Given the description of an element on the screen output the (x, y) to click on. 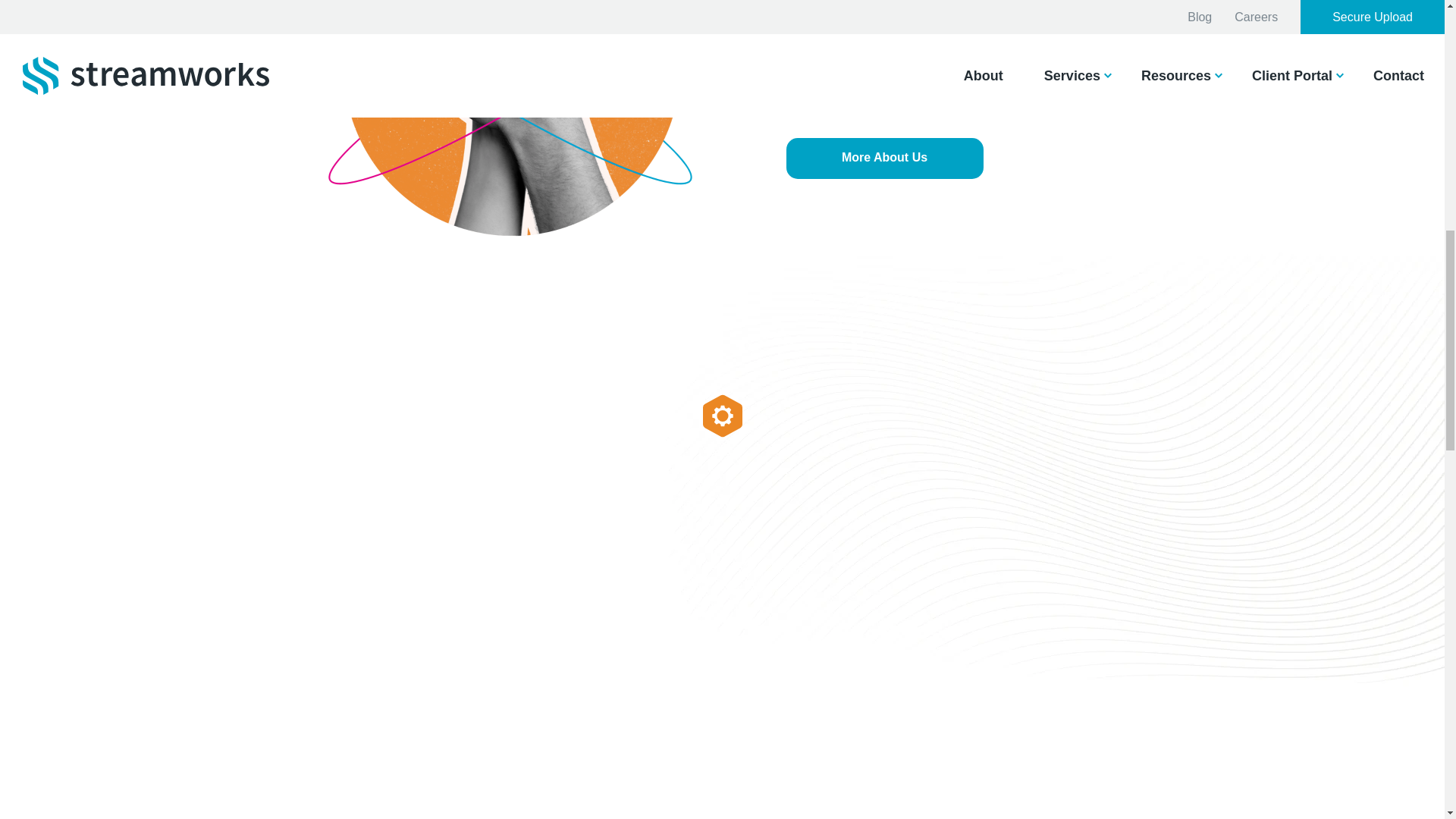
More About Us (884, 158)
